Given the description of an element on the screen output the (x, y) to click on. 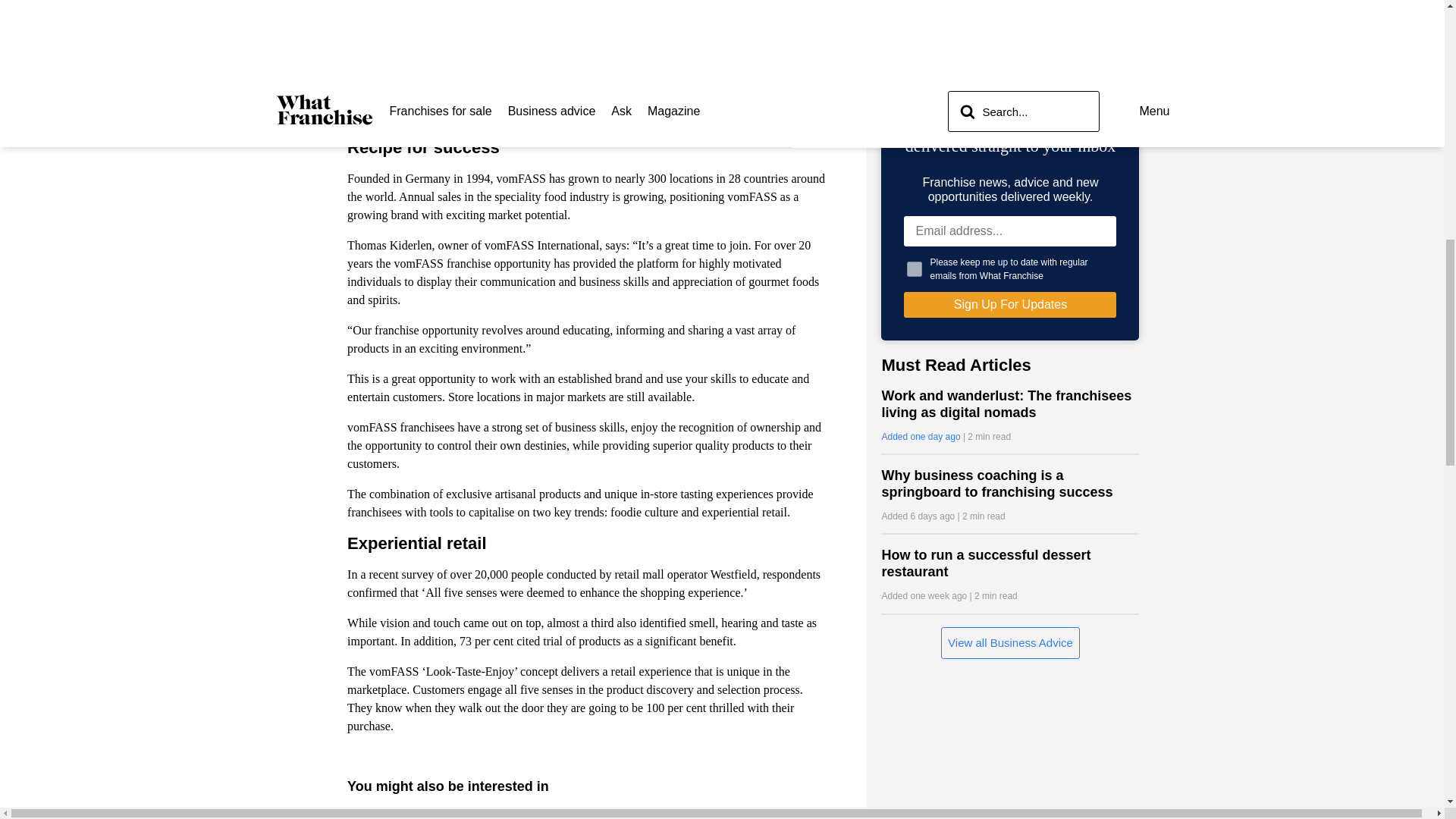
Sign Up For Updates (1010, 304)
